Given the description of an element on the screen output the (x, y) to click on. 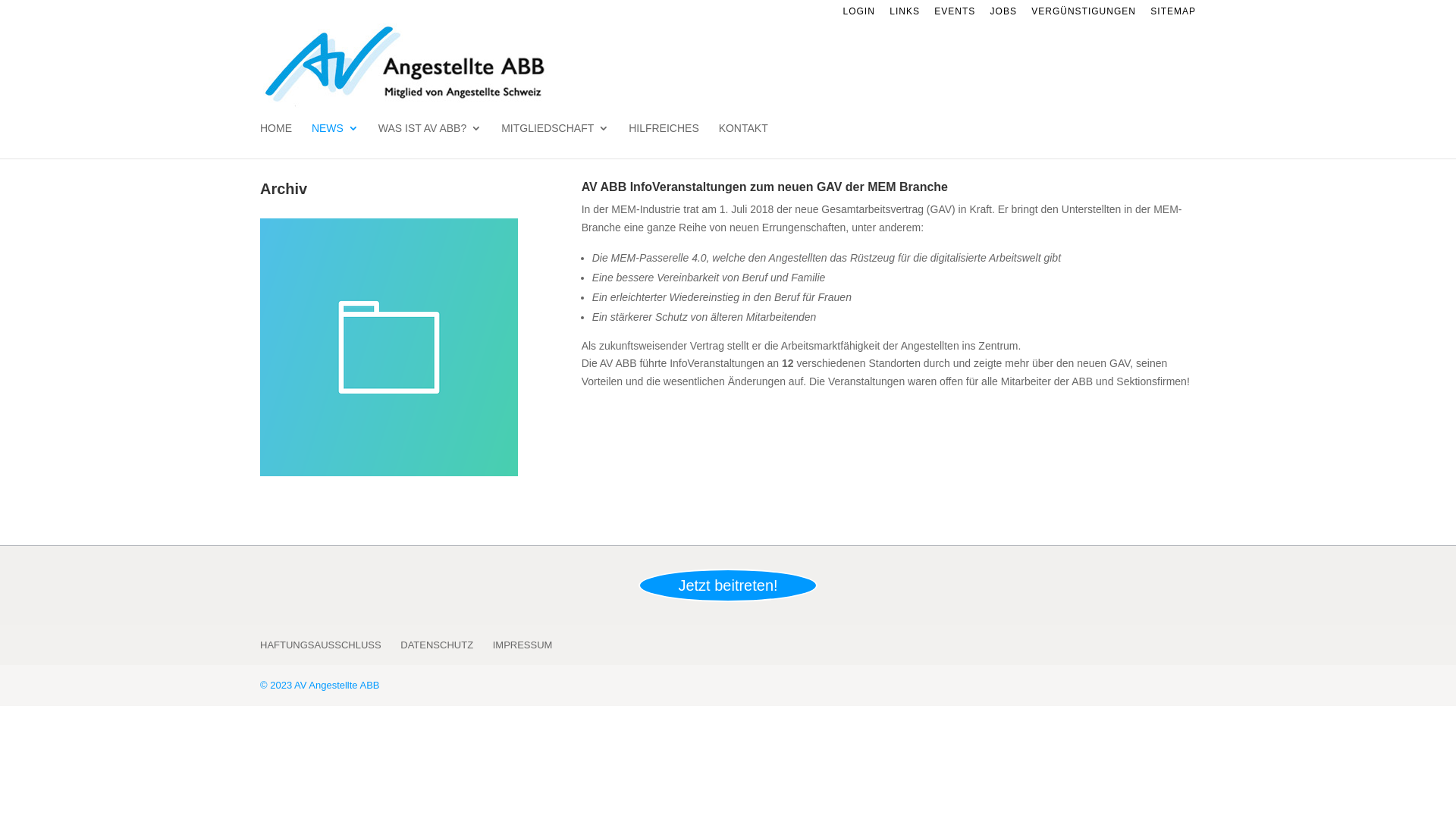
Jetzt beitreten! Element type: text (727, 585)
HILFREICHES Element type: text (663, 140)
HAFTUNGSAUSSCHLUSS Element type: text (320, 643)
KONTAKT Element type: text (743, 140)
LINKS Element type: text (904, 14)
DATENSCHUTZ Element type: text (436, 643)
LOGIN Element type: text (859, 14)
WAS IST AV ABB? Element type: text (429, 140)
JOBS Element type: text (1003, 14)
IMPRESSUM Element type: text (522, 643)
HOME Element type: text (275, 140)
SITEMAP Element type: text (1172, 14)
NEWS Element type: text (334, 140)
EVENTS Element type: text (954, 14)
MITGLIEDSCHAFT Element type: text (554, 140)
